Given the description of an element on the screen output the (x, y) to click on. 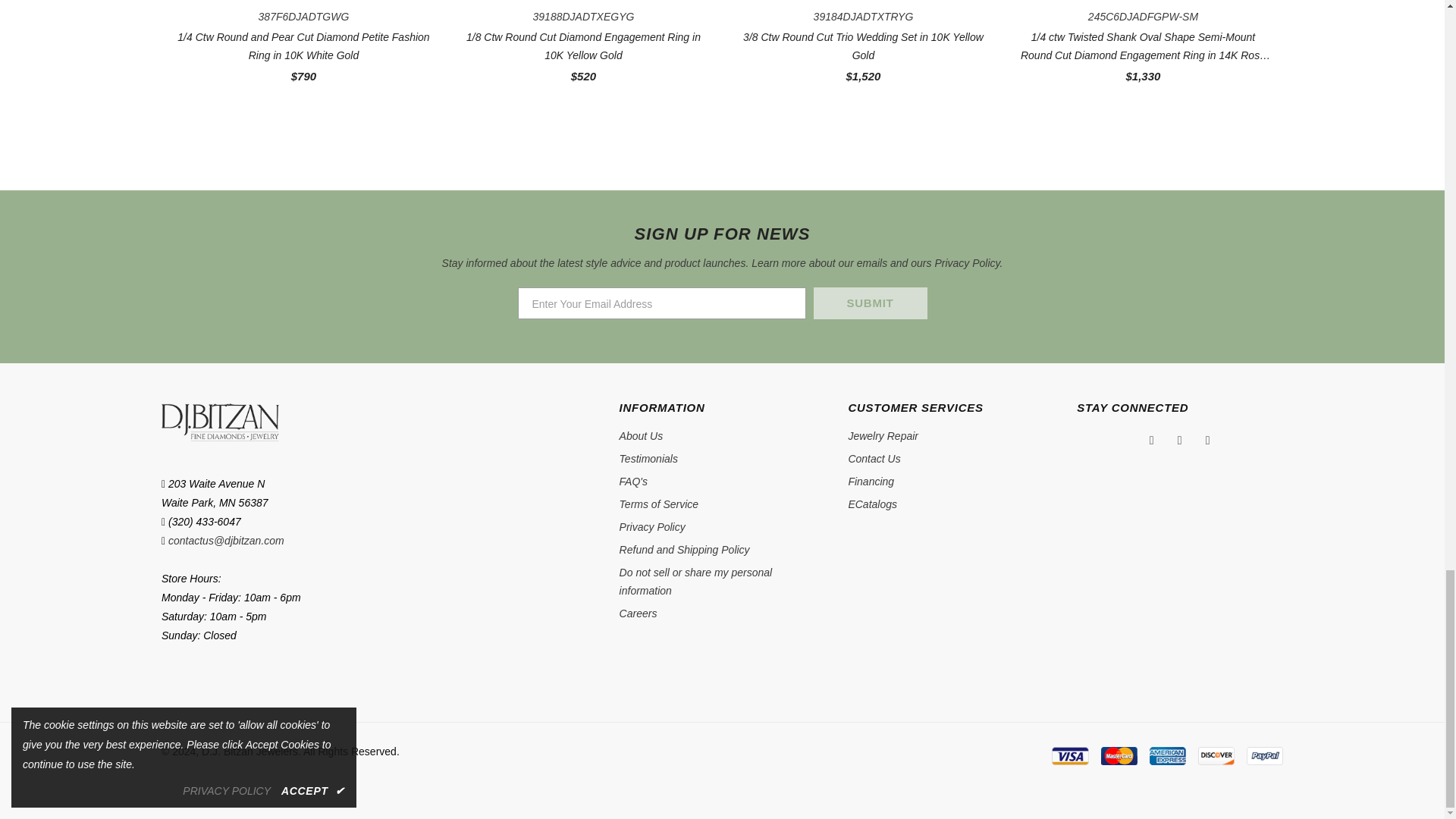
Submit (869, 303)
